Given the description of an element on the screen output the (x, y) to click on. 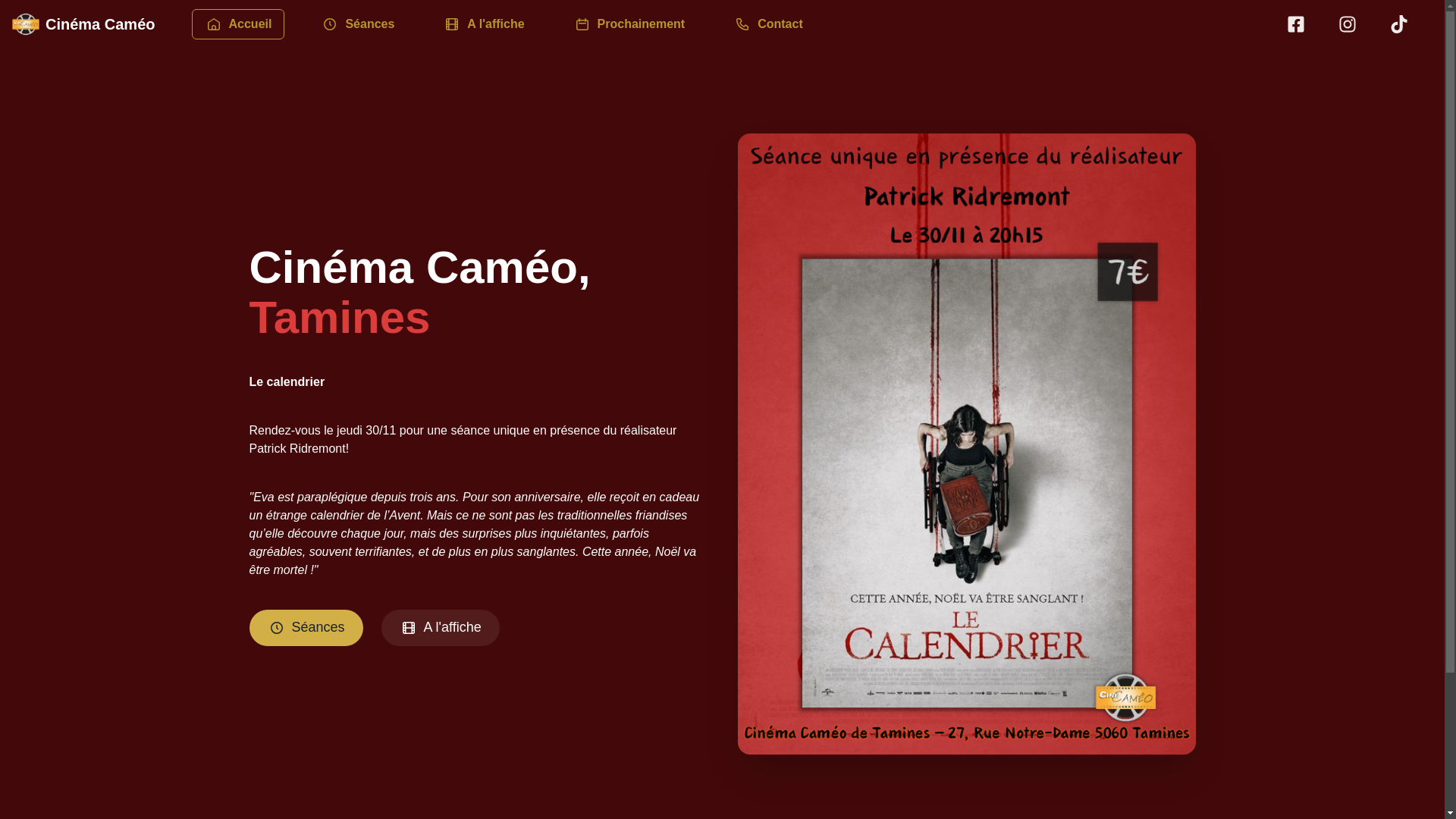
Contact Element type: text (768, 22)
Prochainement Element type: text (629, 24)
Accueil Element type: text (237, 24)
A l'affiche Element type: text (483, 24)
A l'affiche Element type: text (440, 627)
Prochainement Element type: text (629, 22)
A l'affiche Element type: text (483, 22)
Accueil Element type: text (237, 22)
Contact Element type: text (768, 24)
